Given the description of an element on the screen output the (x, y) to click on. 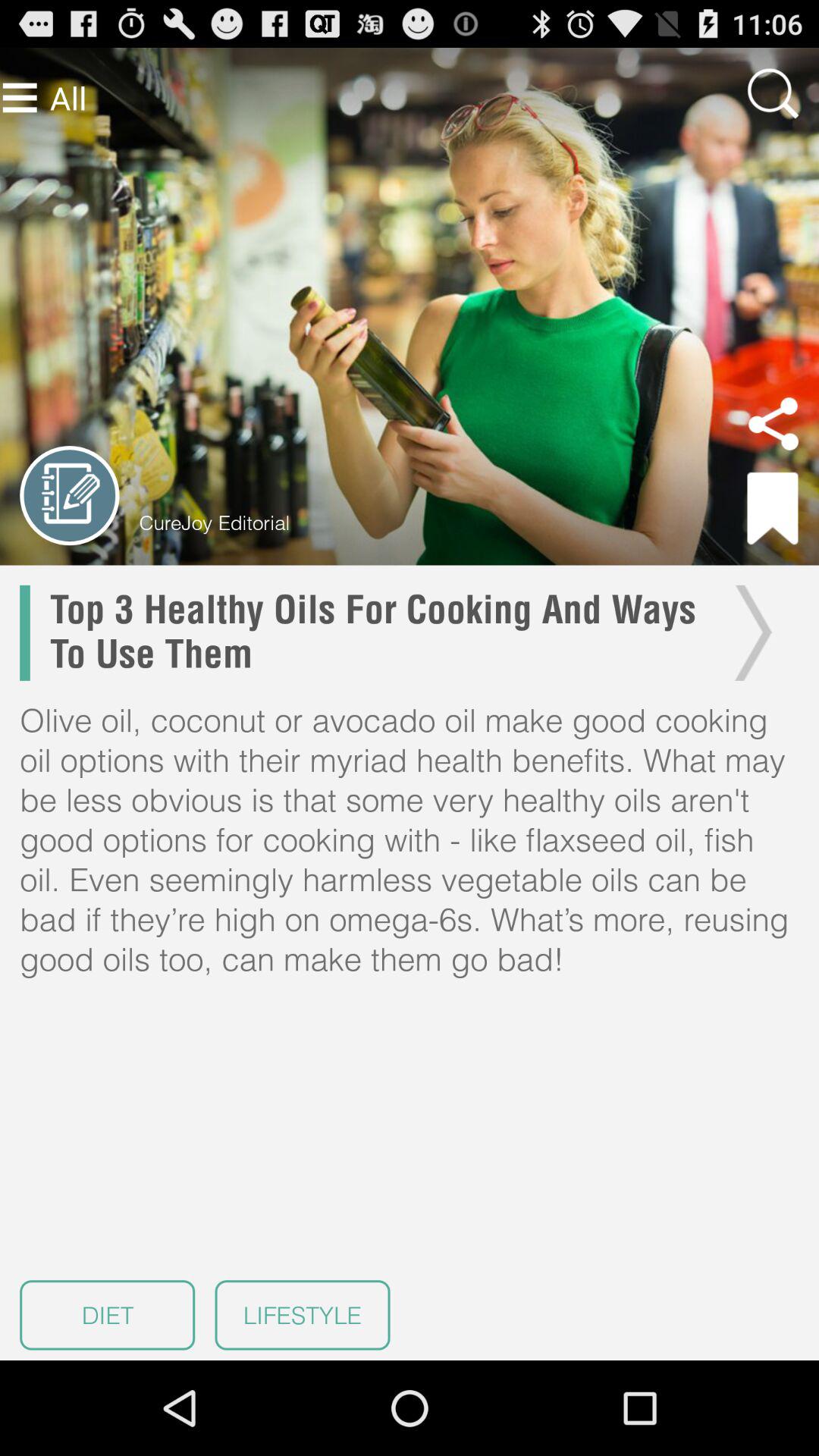
share the article (773, 423)
